Given the description of an element on the screen output the (x, y) to click on. 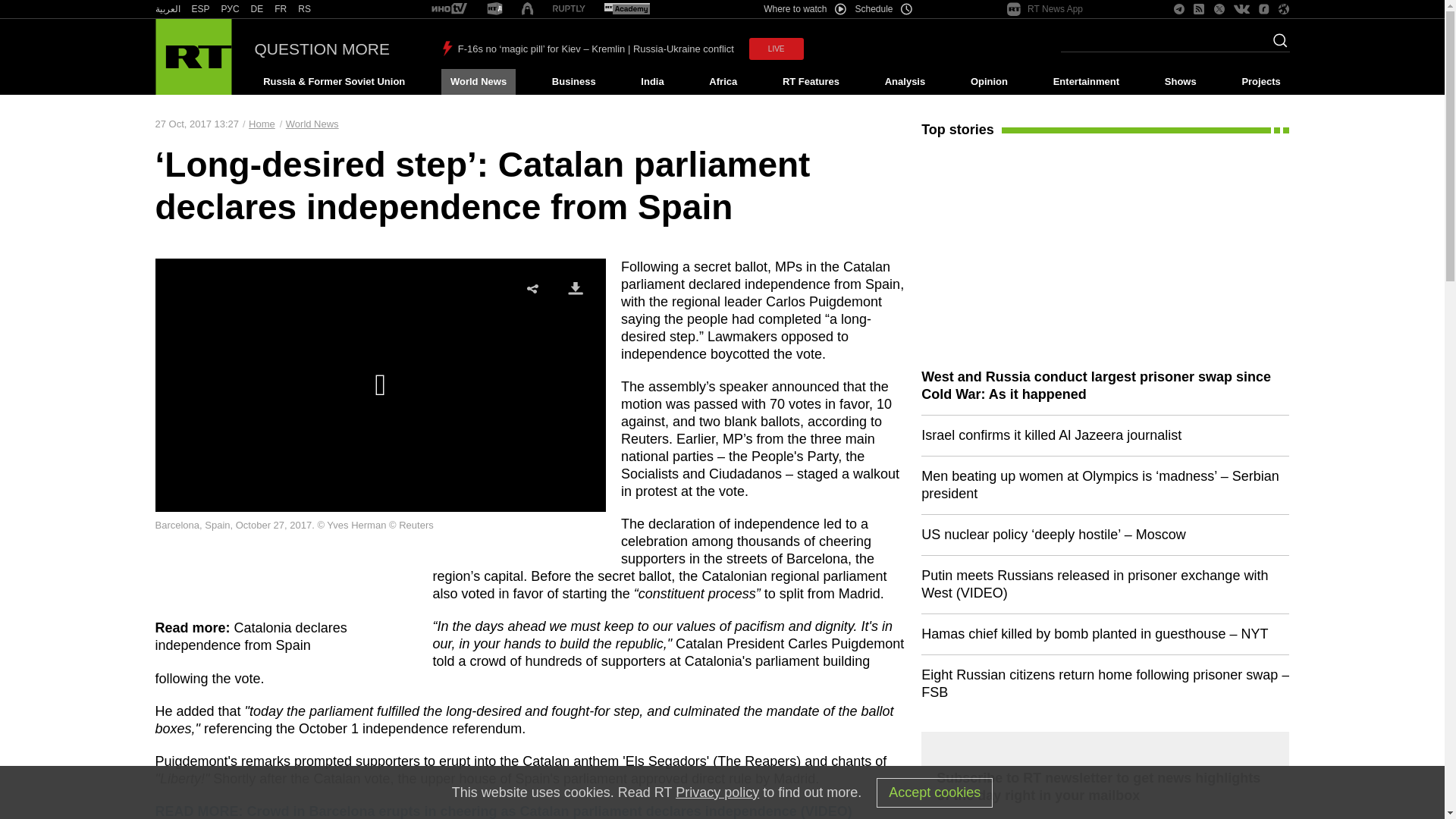
RT  (626, 9)
RT Features (810, 81)
RT  (199, 9)
RS (304, 9)
Schedule (884, 9)
RT  (448, 9)
Africa (722, 81)
RT  (304, 9)
RT  (256, 9)
Entertainment (1085, 81)
Opinion (988, 81)
RT  (569, 8)
India (651, 81)
World News (478, 81)
Business (573, 81)
